Given the description of an element on the screen output the (x, y) to click on. 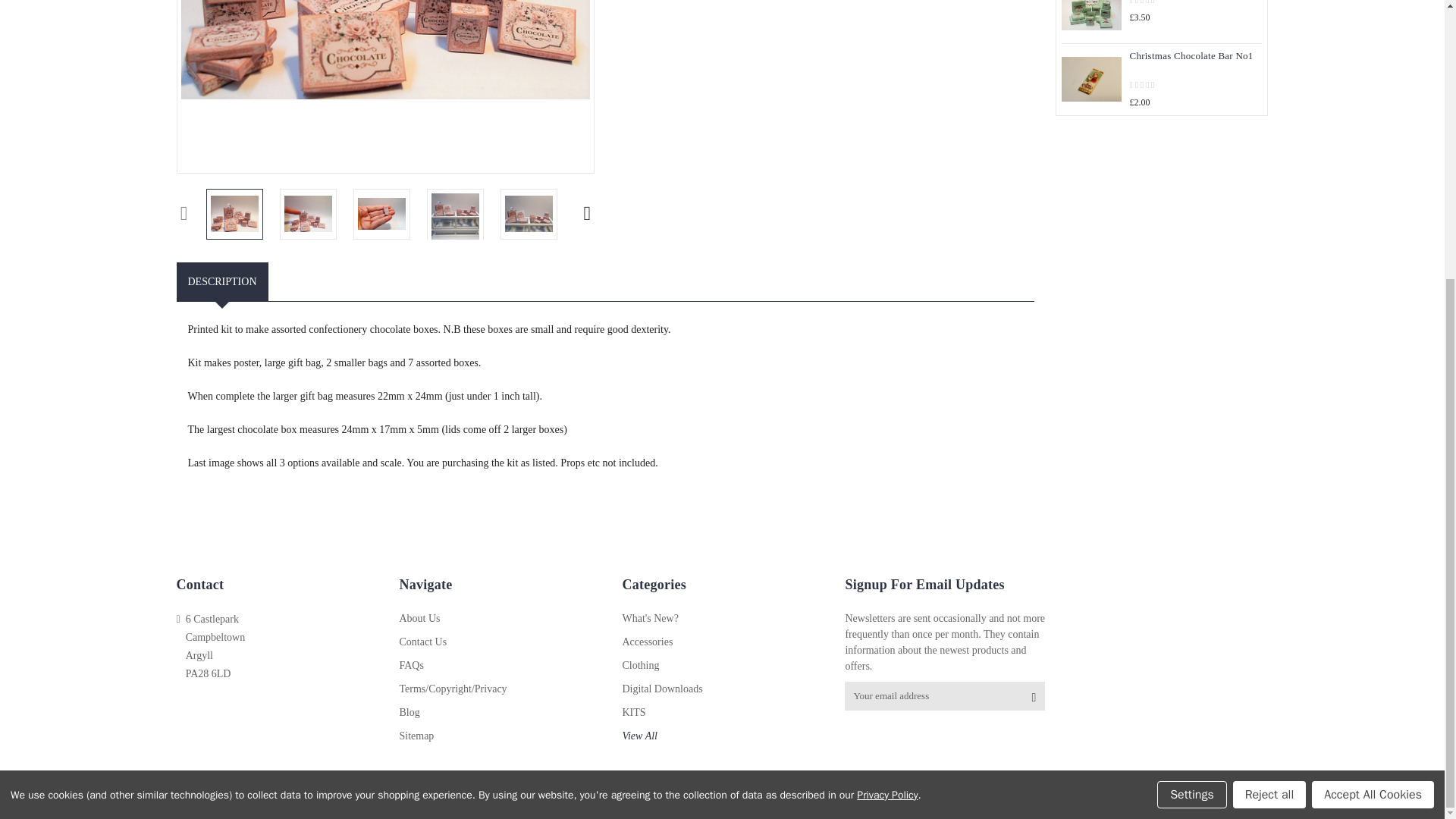
Kit - Fine Chocolates no1 (382, 214)
Kit - Fine Chocolates no1 (384, 49)
Kit - Fine Chocolates no1 (235, 213)
Kit - Fine Chocolates no1 (529, 213)
Christmas Chocolate Bar No1 (1091, 78)
Kit - Fine Chocolates no3 (1091, 15)
Kit - Fine Chocolates no1 (307, 213)
Kit - Fine Chocolates no1 (454, 216)
